Given the description of an element on the screen output the (x, y) to click on. 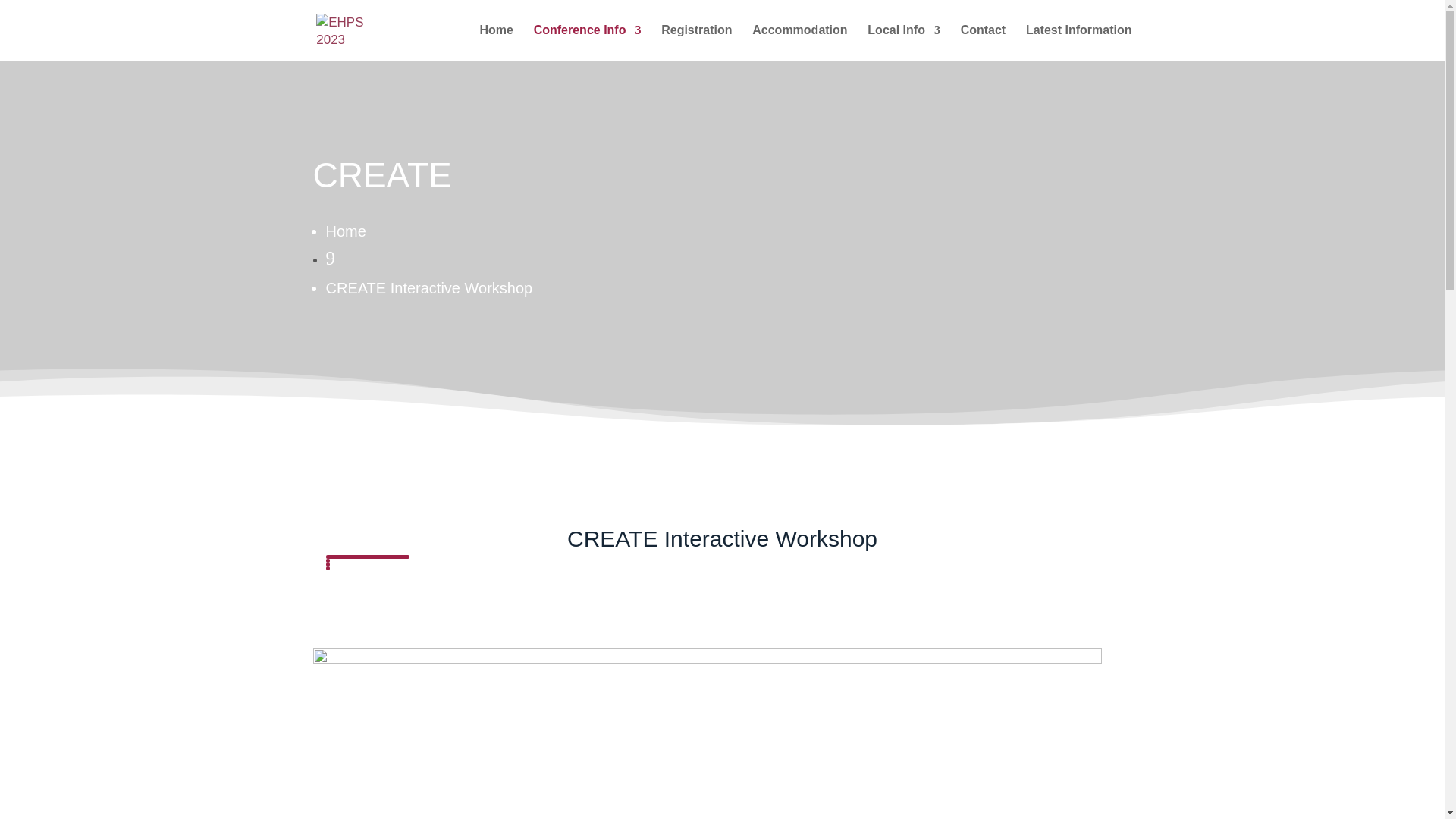
Latest Information (1079, 42)
Conference Info (588, 42)
Contact (983, 42)
Accommodation (799, 42)
Local Info (903, 42)
Home (346, 230)
Registration (696, 42)
Home (495, 42)
